Given the description of an element on the screen output the (x, y) to click on. 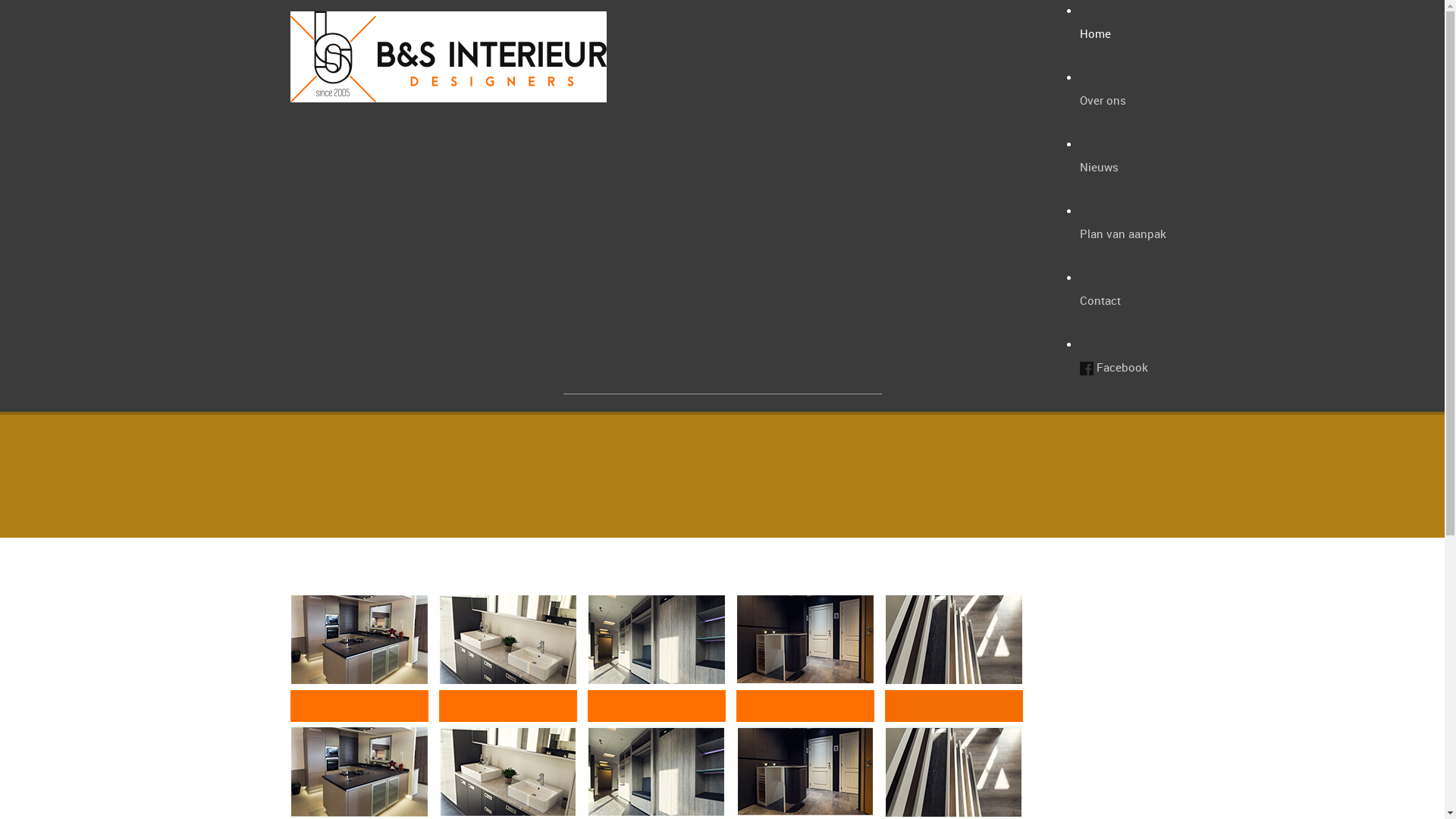
Over ons Element type: text (1122, 100)
Home Element type: text (1122, 33)
Facebook Element type: text (1122, 366)
Plan van aanpak Element type: text (1122, 233)
Contact Element type: text (1122, 300)
Nieuws Element type: text (1122, 166)
